Given the description of an element on the screen output the (x, y) to click on. 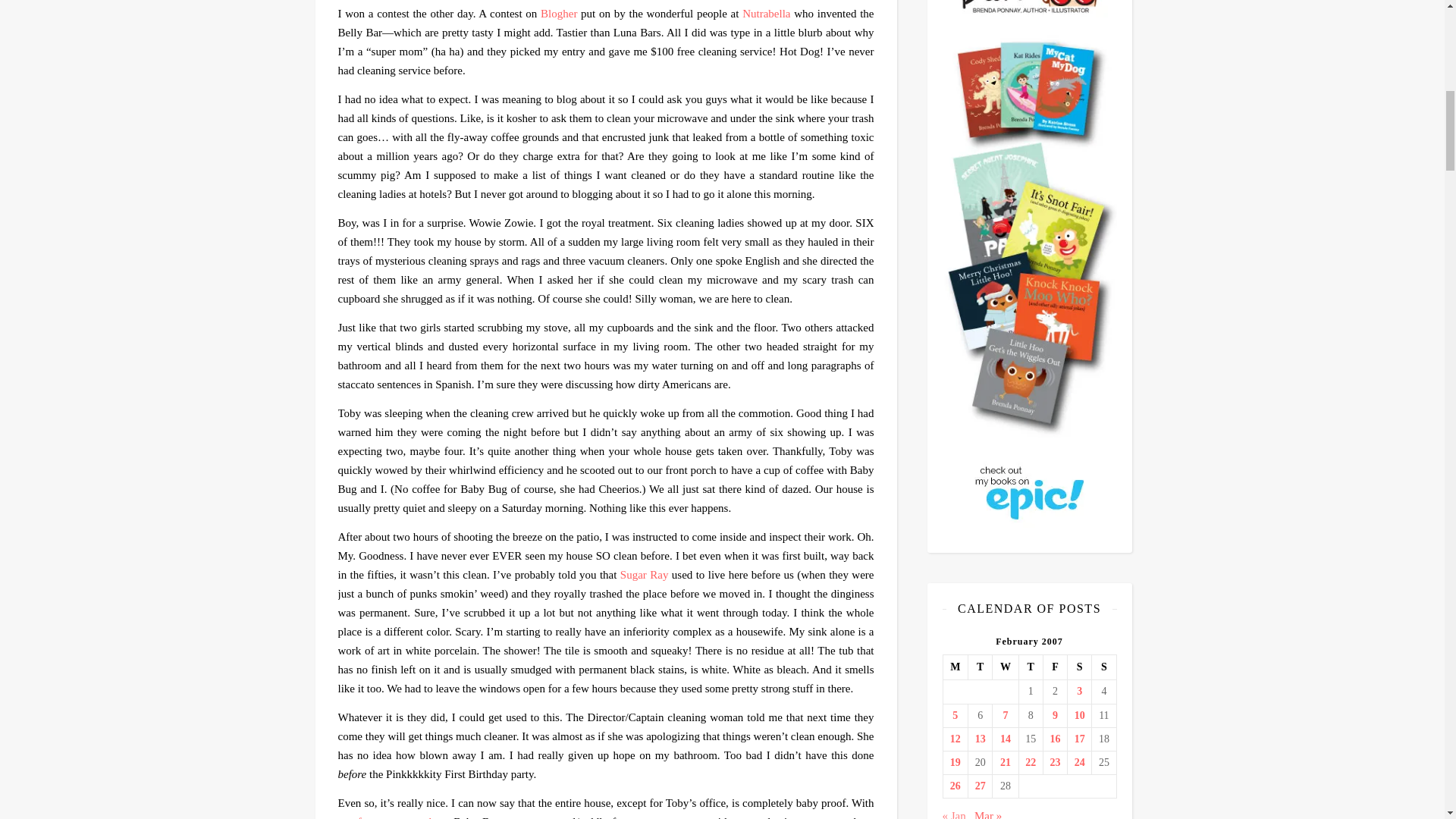
Sugar Ray (644, 574)
fancy new cat box (402, 817)
Wednesday (1004, 667)
Thursday (1029, 667)
Sunday (1104, 667)
Friday (1054, 667)
Saturday (1079, 667)
Nutrabella (766, 13)
Blogher (558, 13)
Monday (955, 667)
